Given the description of an element on the screen output the (x, y) to click on. 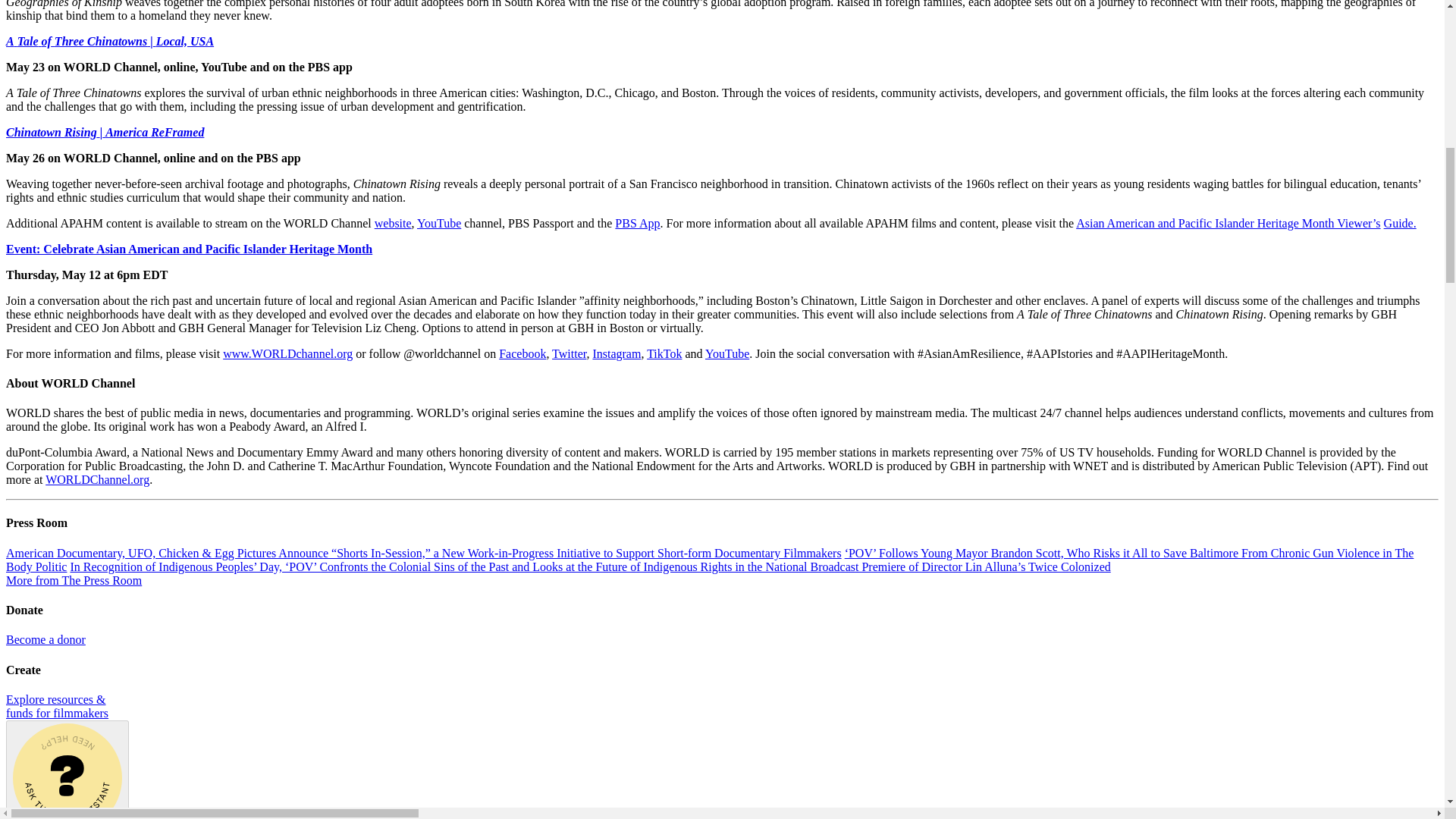
www.WORLDchannel.org (287, 353)
More from The Press Room (73, 580)
TikTok (663, 353)
website (393, 223)
WORLDChannel.org (97, 479)
Instagram (616, 353)
Guide. (1400, 223)
YouTube (438, 223)
YouTube (726, 353)
